Given the description of an element on the screen output the (x, y) to click on. 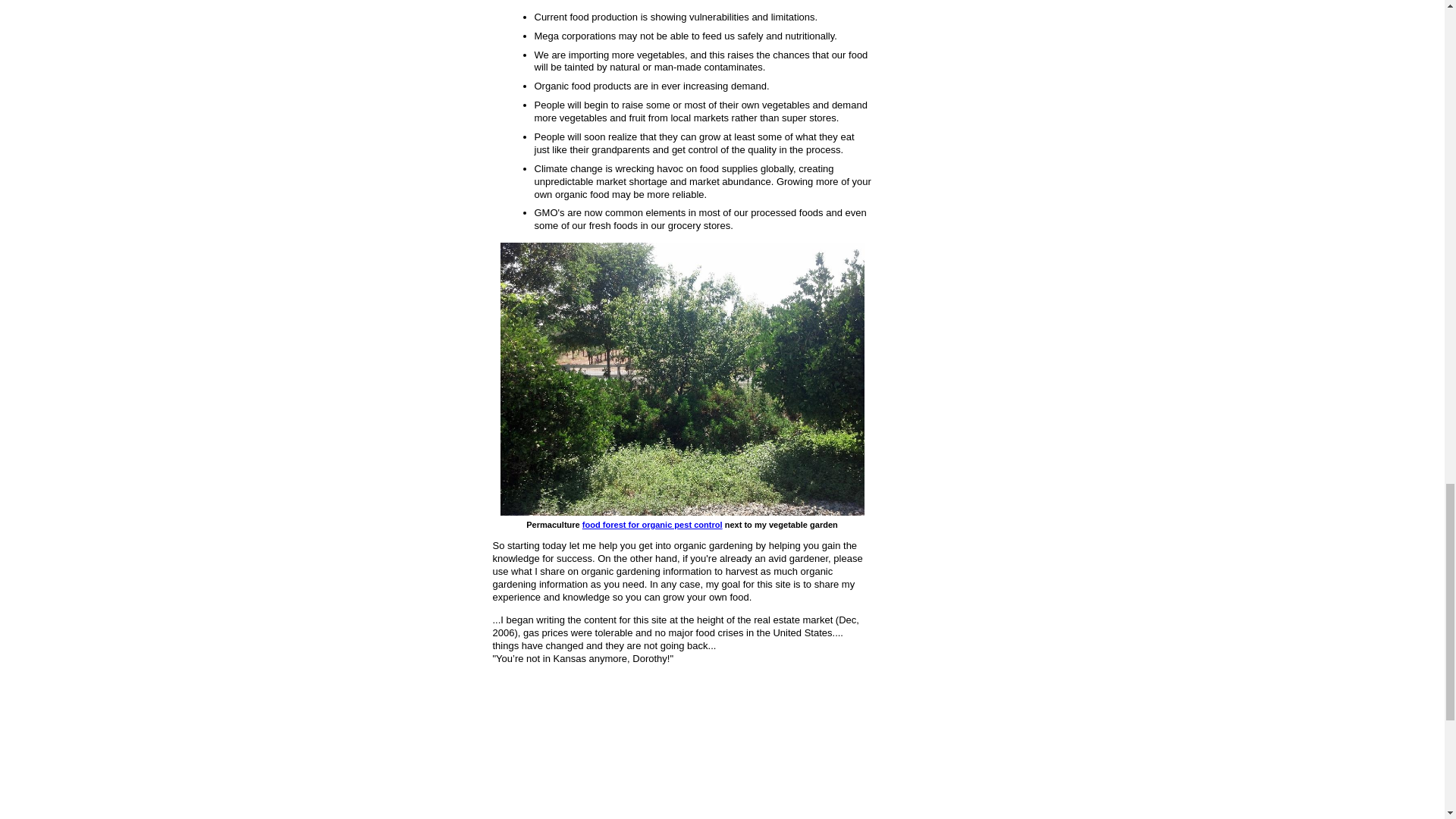
food forest for organic pest control (652, 524)
